Given the description of an element on the screen output the (x, y) to click on. 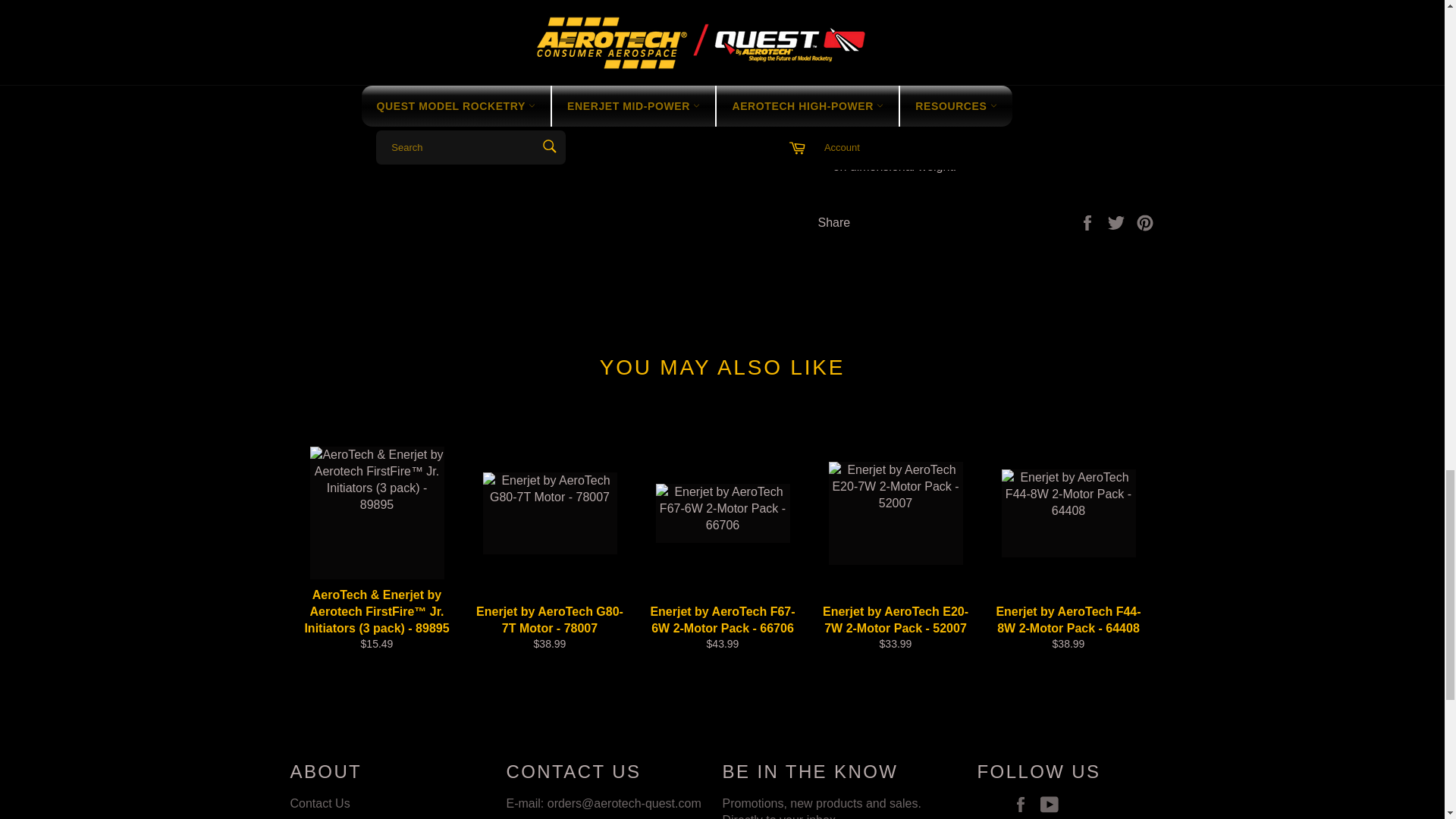
Pin on Pinterest (1144, 221)
Share on Facebook (1088, 221)
Tweet on Twitter (1117, 221)
